Given the description of an element on the screen output the (x, y) to click on. 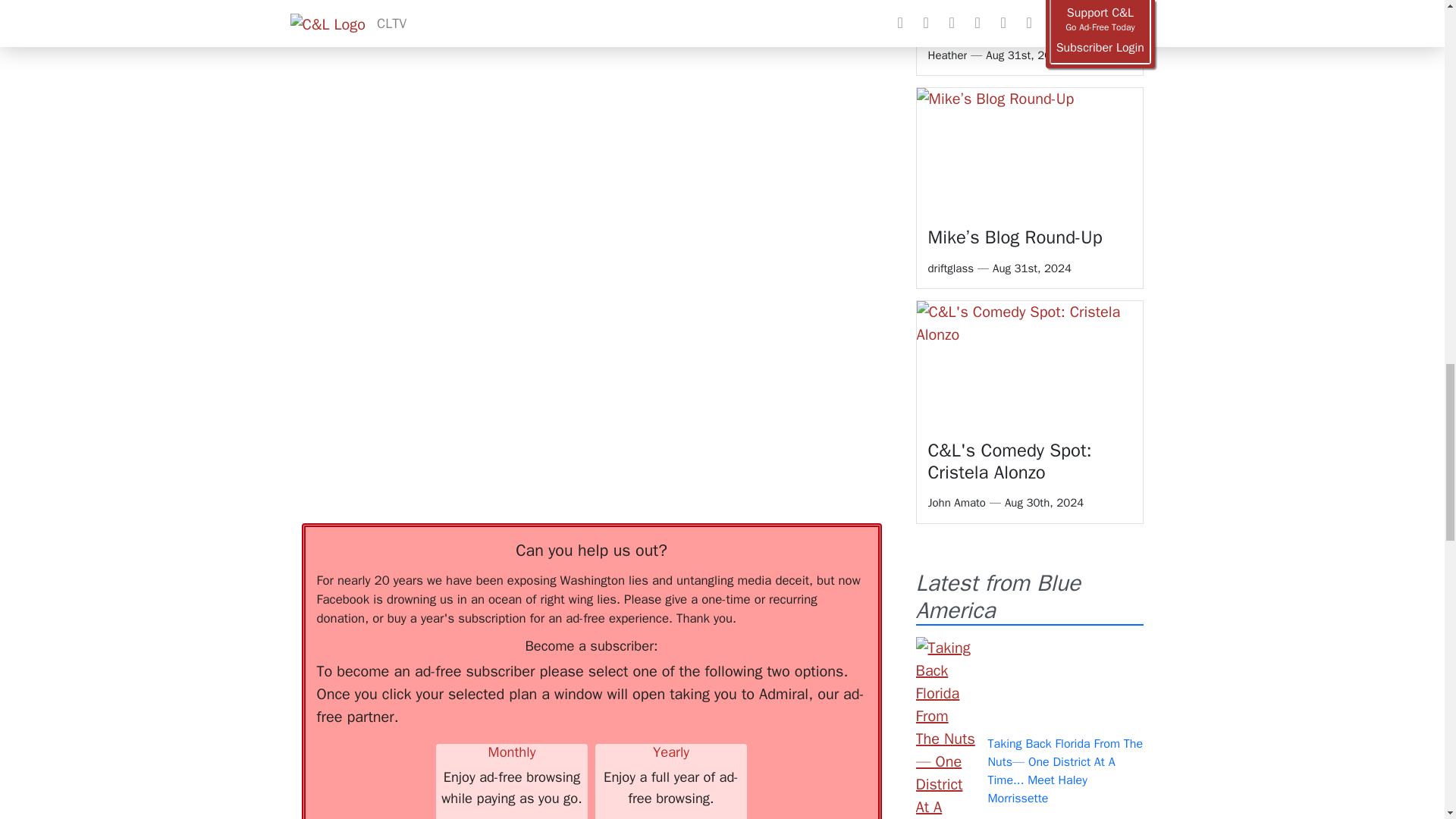
Last Week Tonight With John Oliver (609, 2)
Homeowners (440, 2)
priority lien (771, 2)
Property Assessed Clean Energy (633, 13)
